Given the description of an element on the screen output the (x, y) to click on. 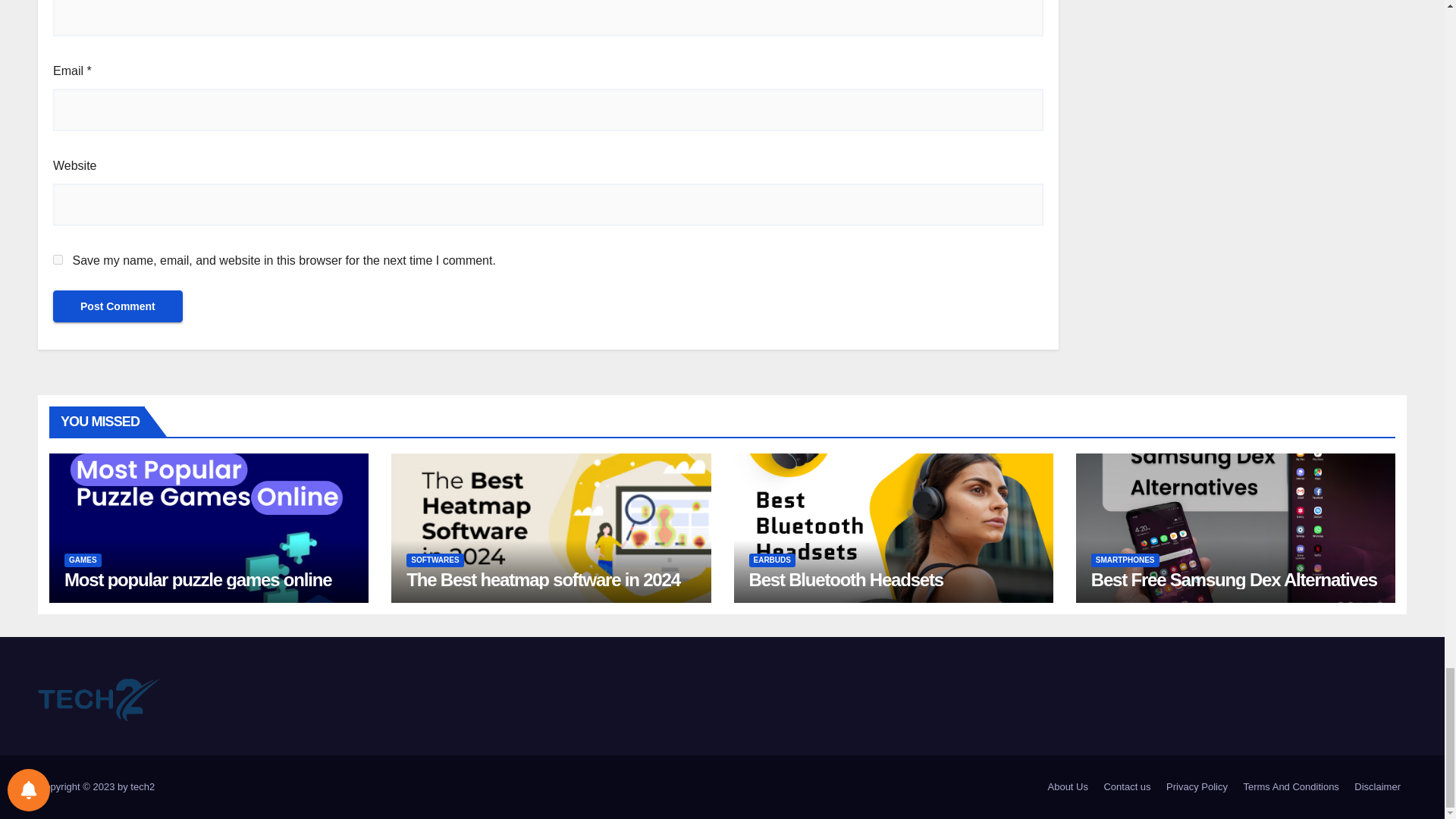
Post Comment (117, 306)
yes (57, 259)
Permalink to: Most popular puzzle games online (197, 579)
